Given the description of an element on the screen output the (x, y) to click on. 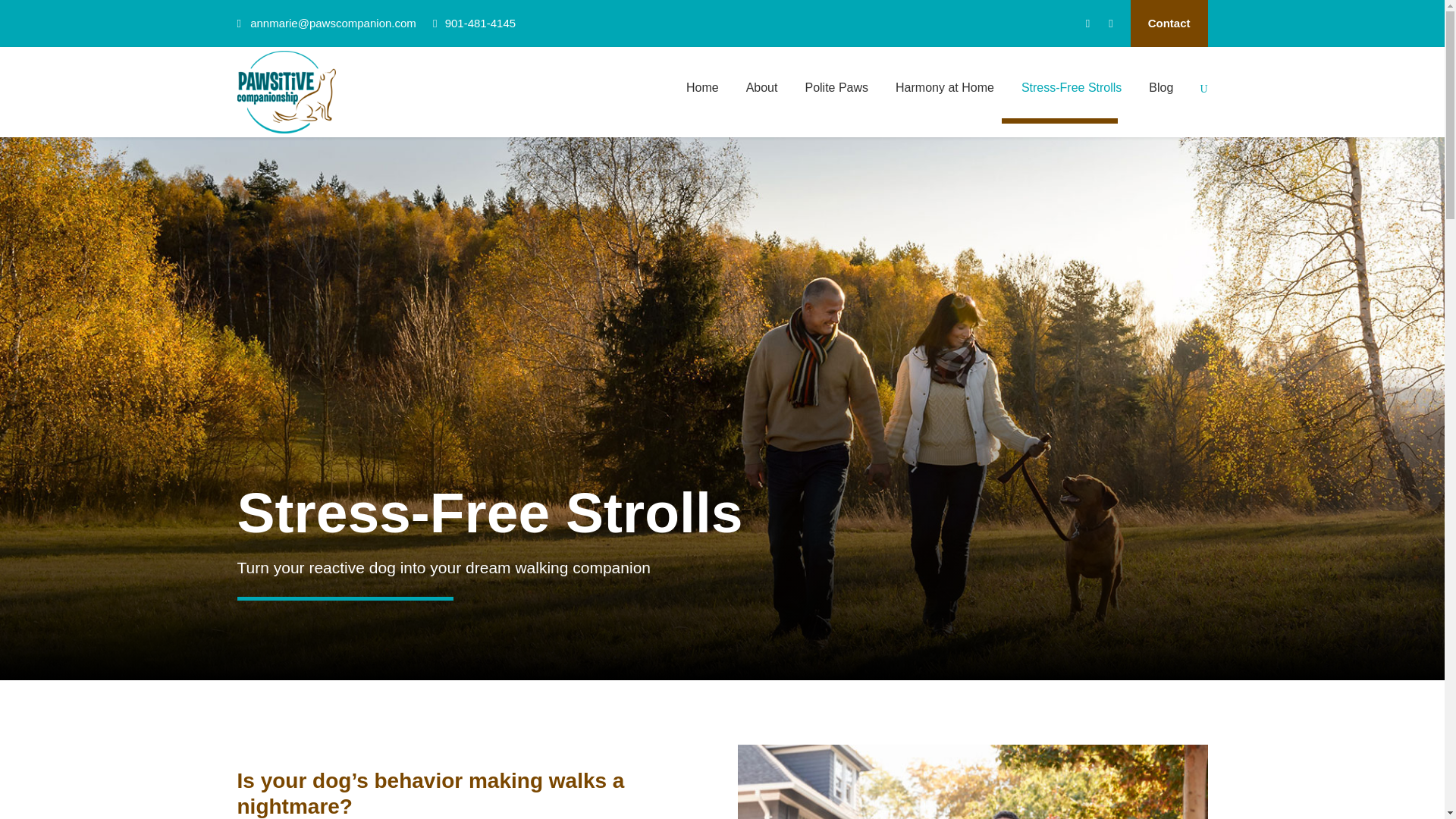
Contact (1169, 23)
Harmony at Home (944, 99)
pawsitive-logo (284, 91)
901-481-4145 (480, 22)
Polite Paws (836, 99)
Stress-Free Strolls (1071, 99)
